Given the description of an element on the screen output the (x, y) to click on. 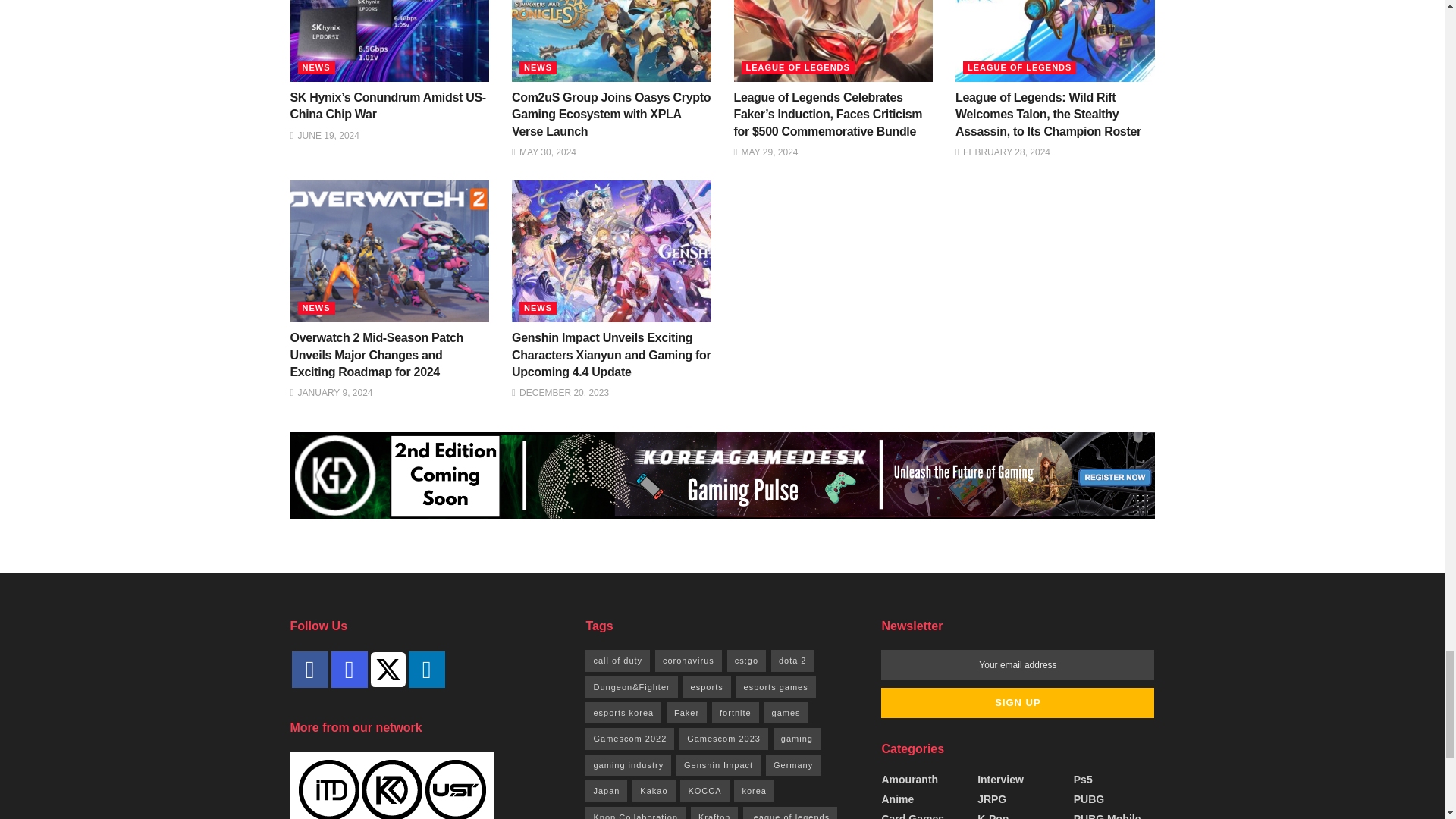
linkedin (425, 669)
twitter (386, 669)
instagram (348, 669)
twitter (387, 668)
facebook (309, 669)
Sign up (1017, 702)
